Given the description of an element on the screen output the (x, y) to click on. 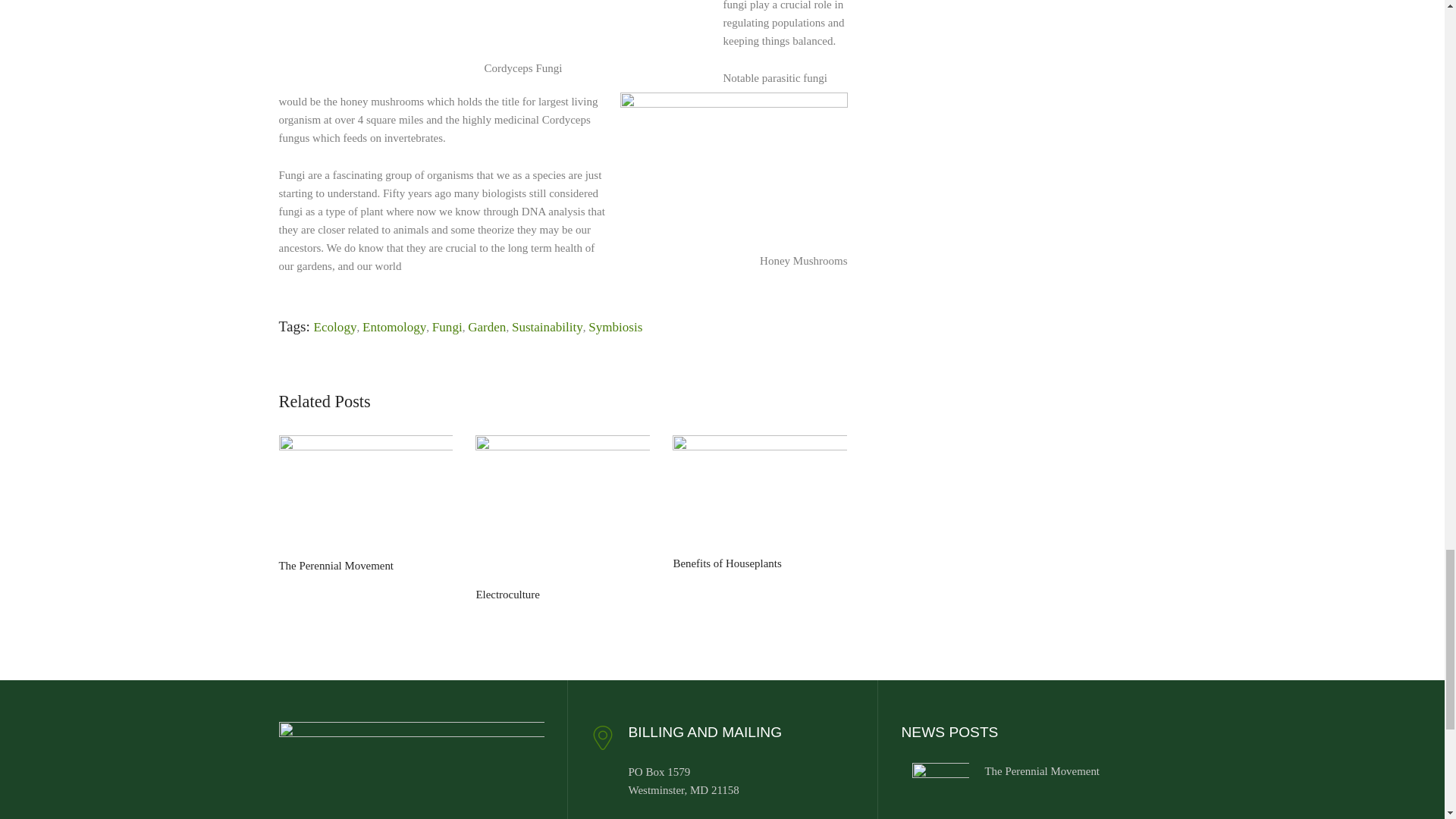
The Perennial Movement (1041, 770)
Benefits of Houseplants (759, 492)
The Perennial Movement (940, 789)
Sustainability (547, 327)
Fungi (447, 327)
The Perennial Movement (365, 493)
Electroculture (562, 508)
Entomology (394, 327)
Garden (486, 327)
Ecology (335, 327)
